Given the description of an element on the screen output the (x, y) to click on. 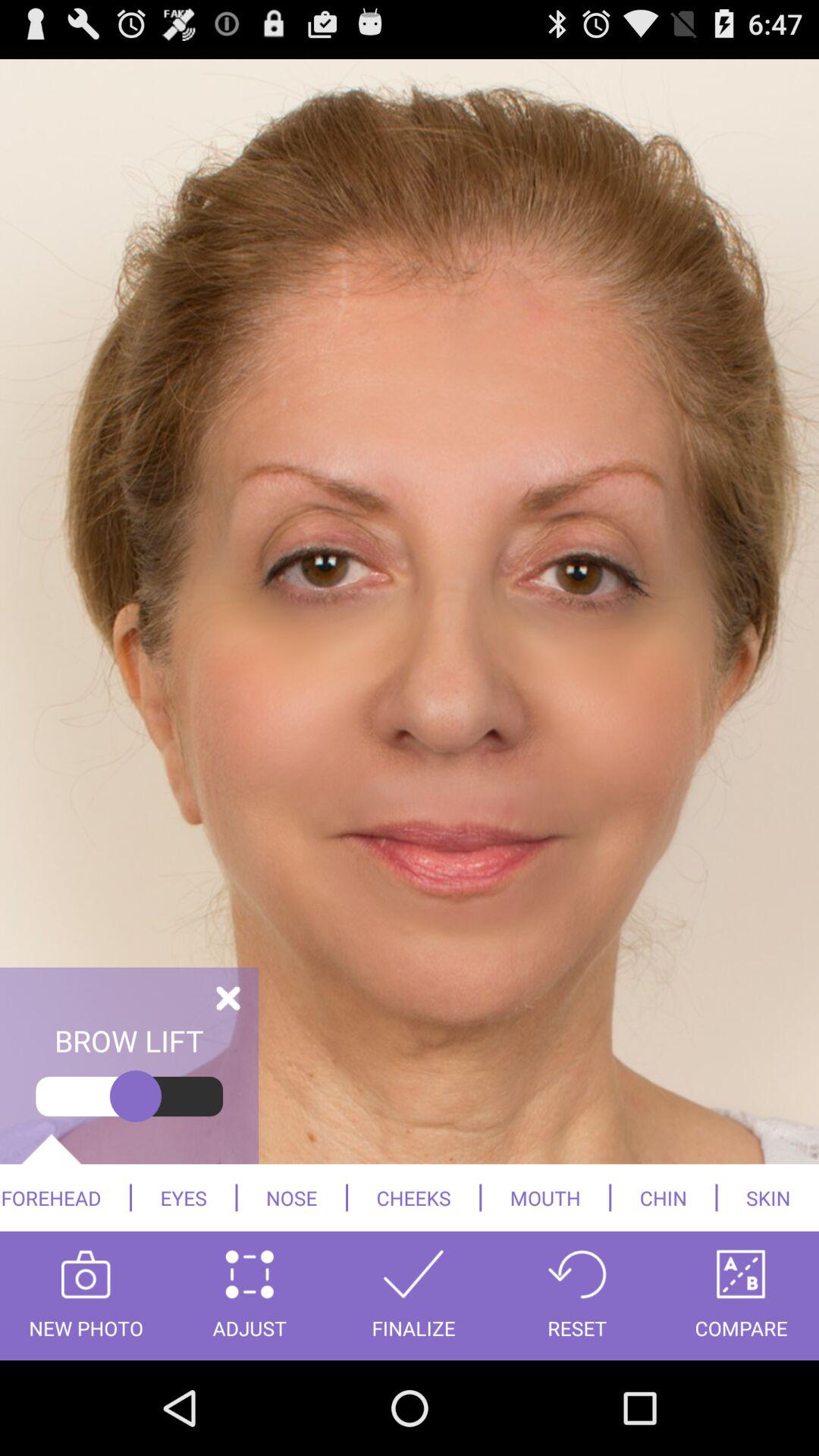
jump until cheeks icon (413, 1197)
